Given the description of an element on the screen output the (x, y) to click on. 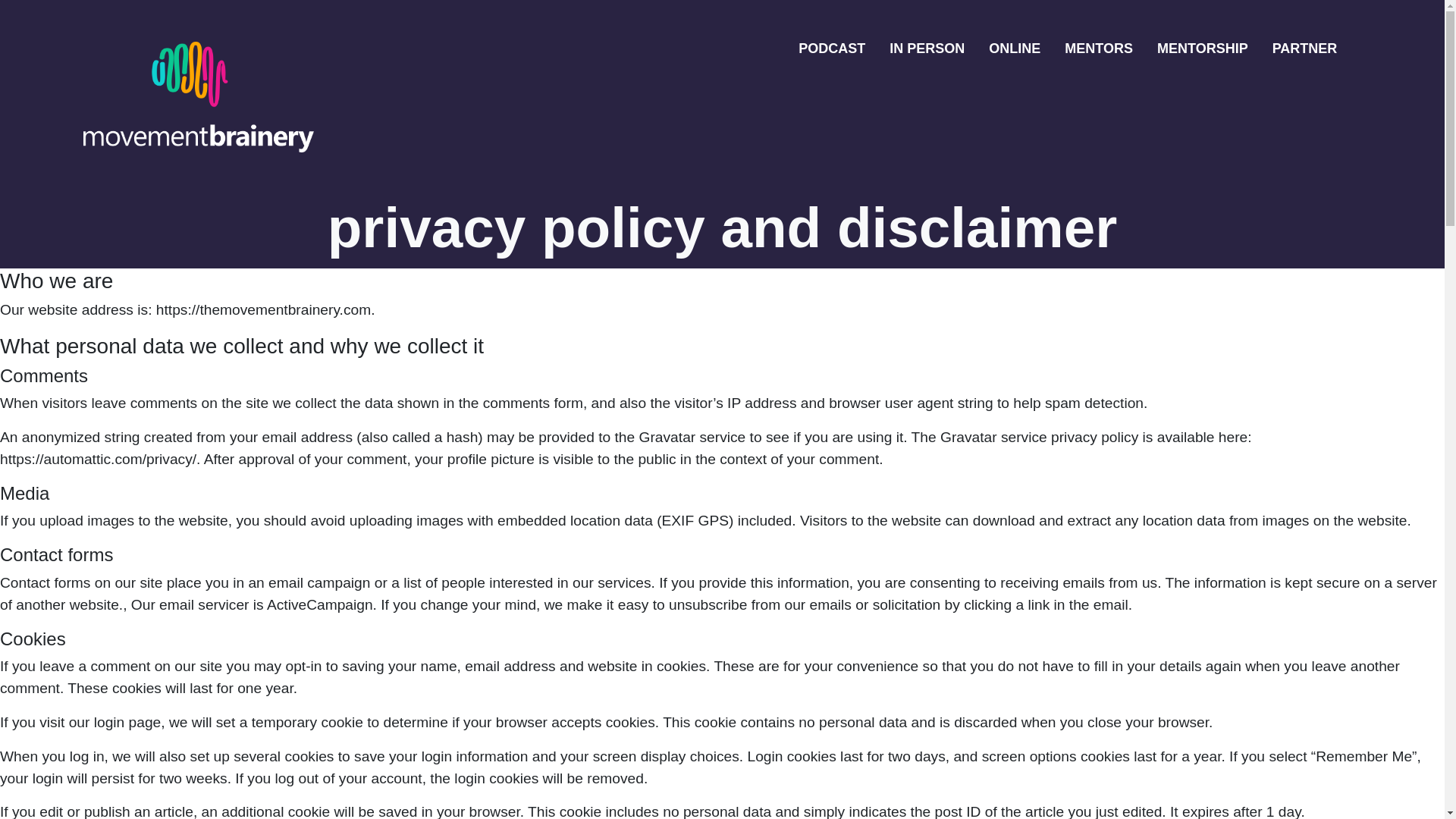
PARTNER (1305, 48)
MENTORSHIP (1202, 48)
PODCAST (830, 48)
ONLINE (1014, 48)
IN PERSON (926, 48)
MENTORS (1098, 48)
